Given the description of an element on the screen output the (x, y) to click on. 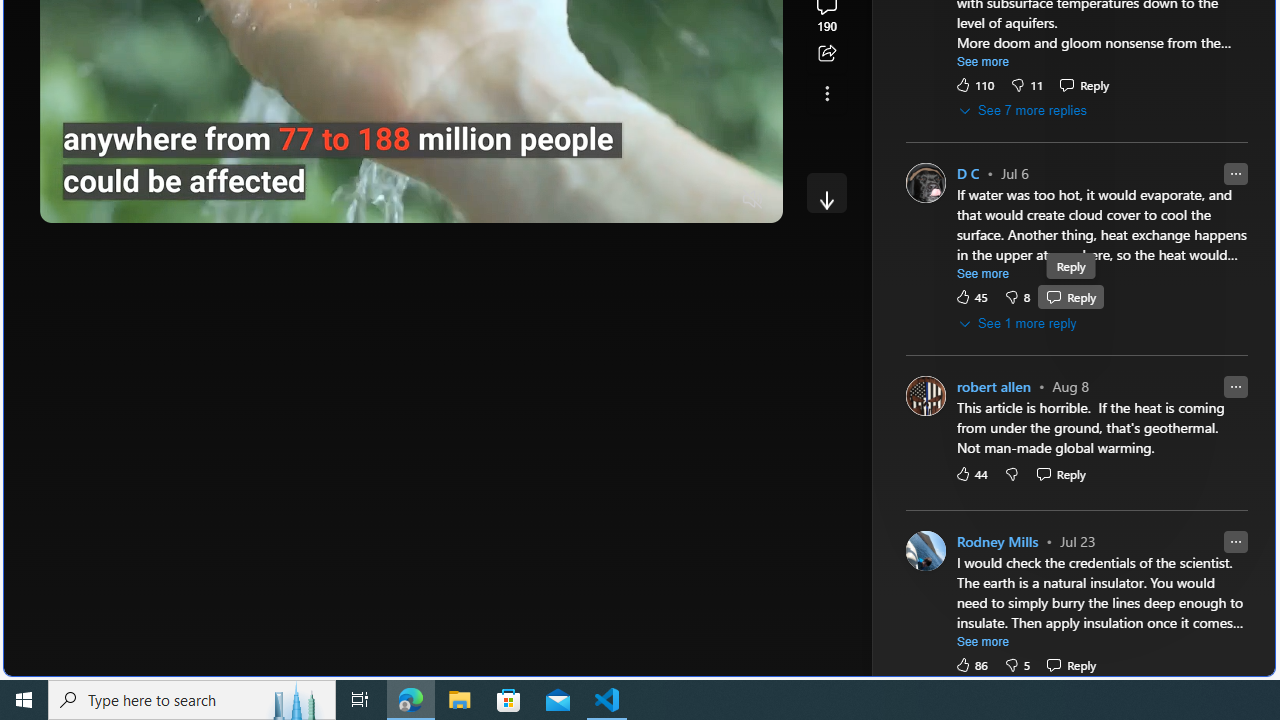
Seek Forward (150, 200)
Dislike (1016, 664)
Share this story (826, 53)
Class: control (826, 192)
45 Like (970, 297)
Seek Back (109, 200)
Report comment (1235, 540)
See 1 more reply (1018, 323)
Profile Picture (924, 549)
Captions (675, 200)
Progress Bar (411, 174)
